Given the description of an element on the screen output the (x, y) to click on. 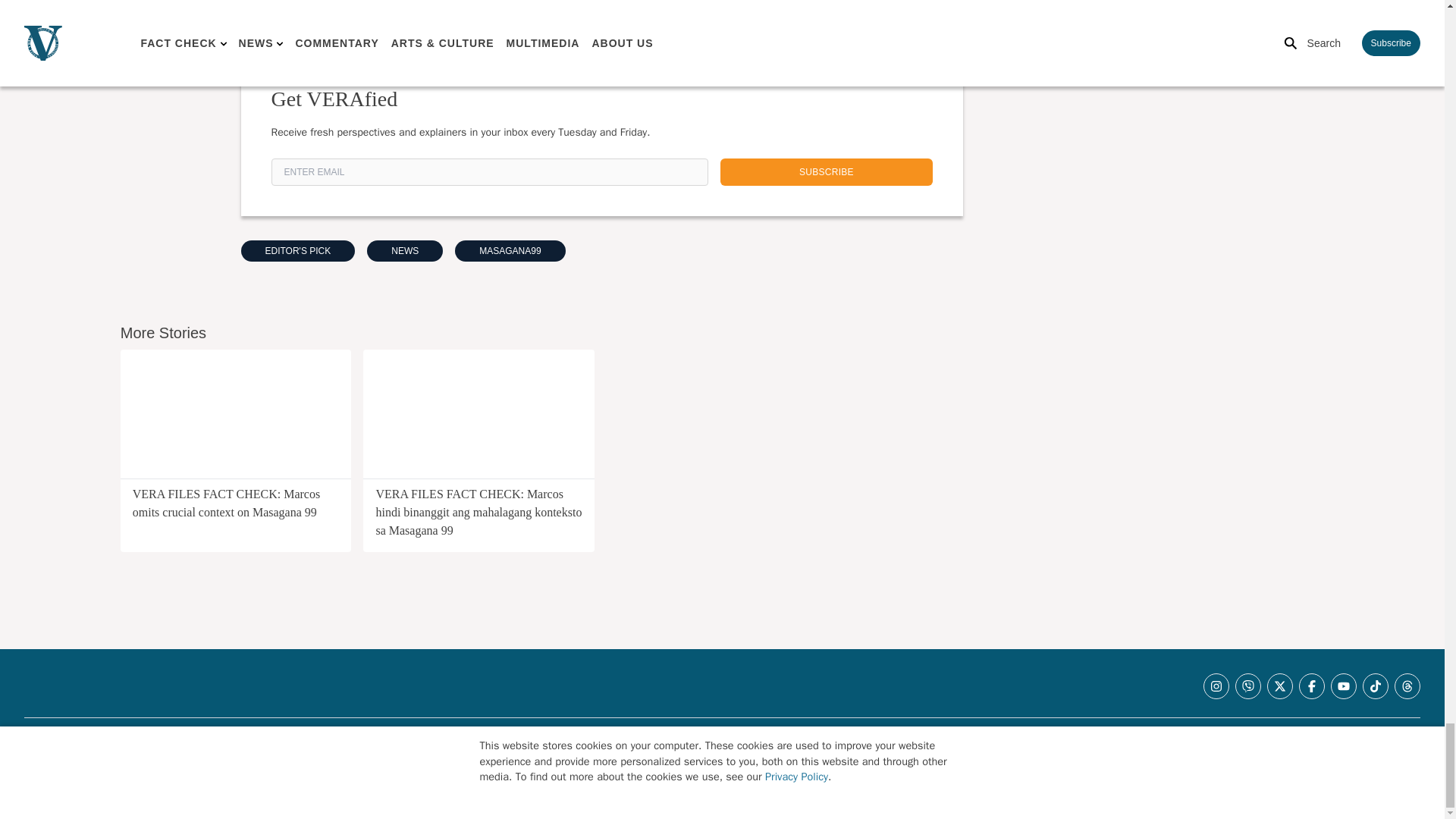
SUBSCRIBE (826, 171)
